Given the description of an element on the screen output the (x, y) to click on. 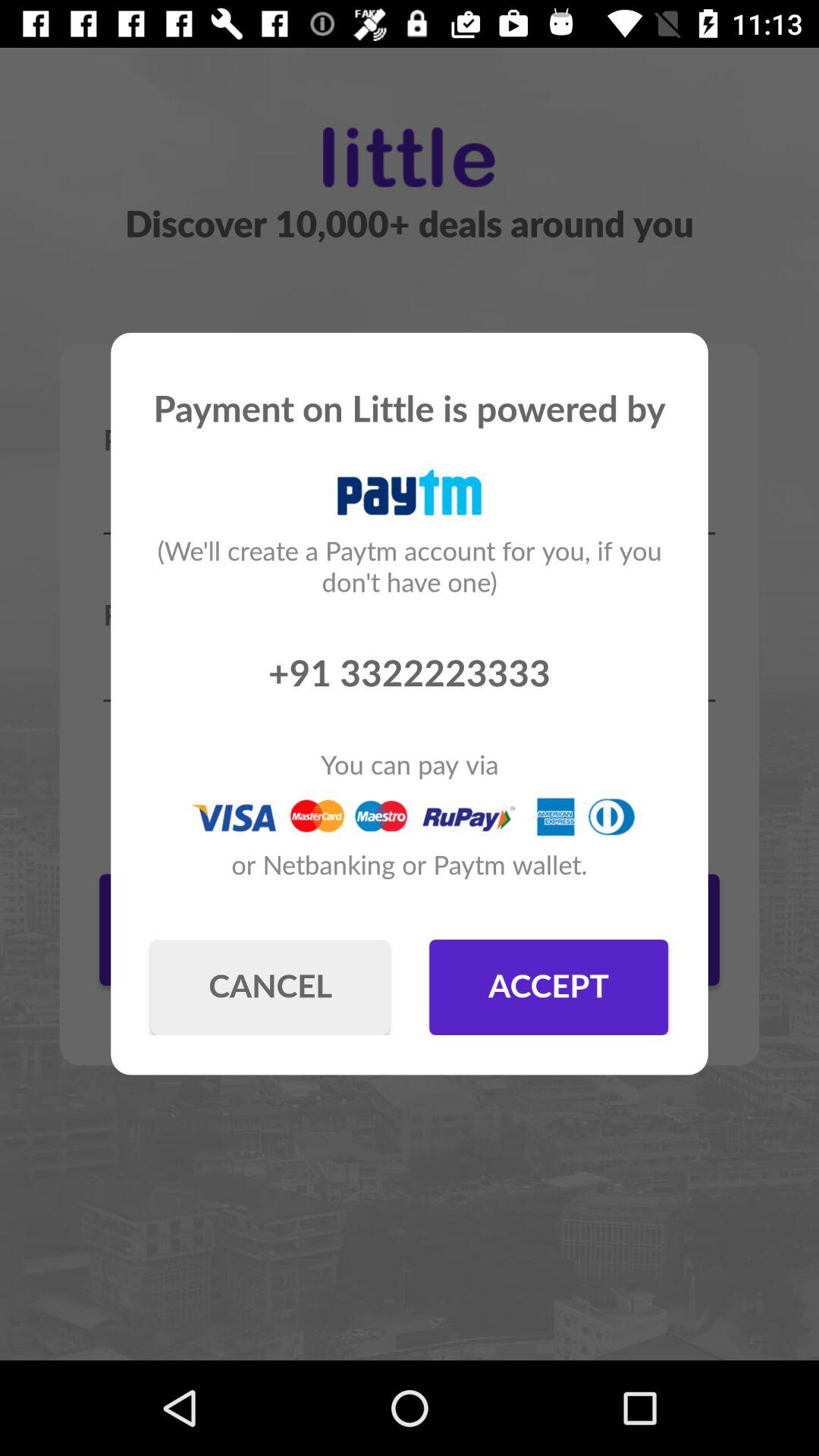
scroll until cancel button (269, 987)
